Given the description of an element on the screen output the (x, y) to click on. 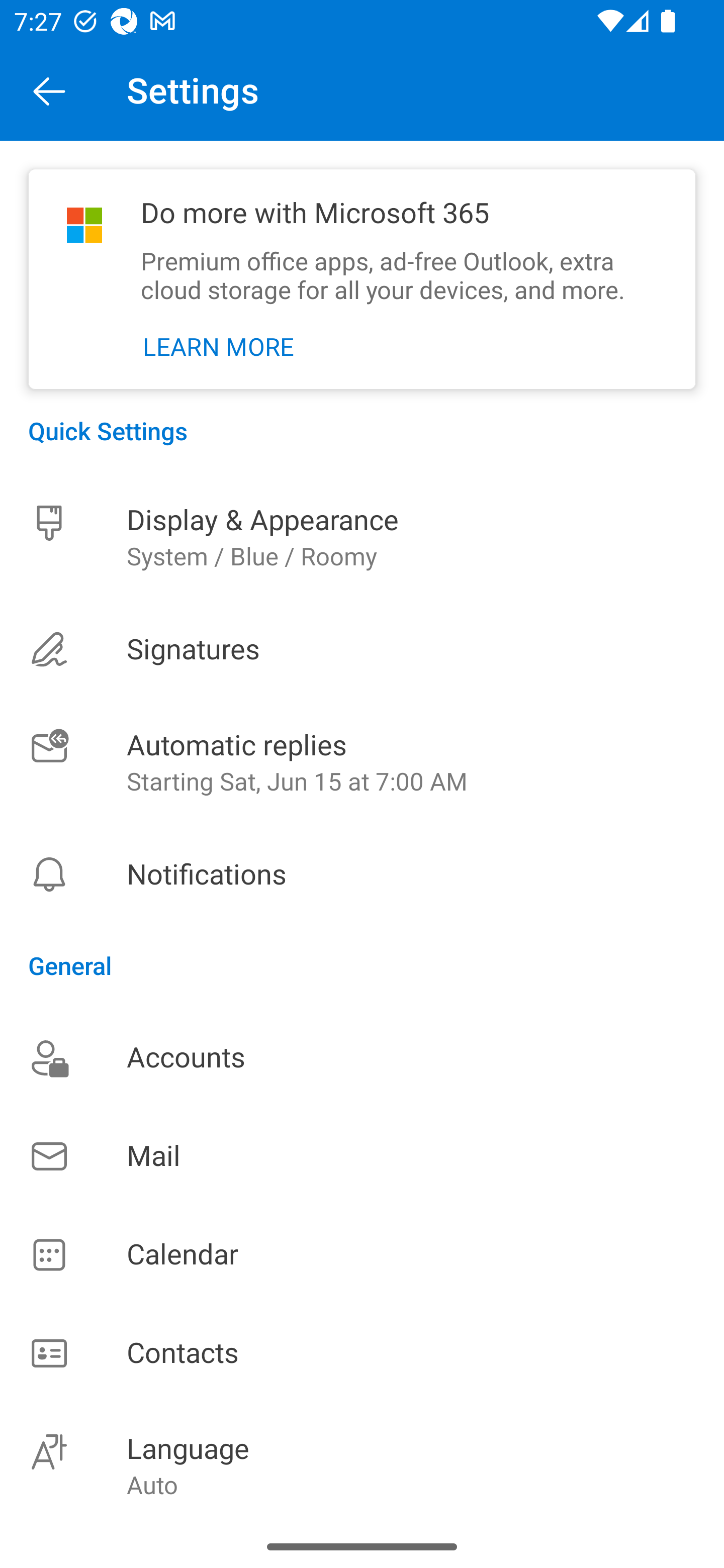
Back (49, 90)
LEARN MORE (218, 346)
Display & Appearance System / Blue / Roomy (362, 536)
Signatures (362, 649)
Automatic replies Starting Sat, Jun 15 at 7:00 AM (362, 762)
Notifications (362, 874)
Accounts (362, 1057)
Mail (362, 1156)
Calendar (362, 1254)
Contacts (362, 1353)
Language Auto (362, 1464)
